Given the description of an element on the screen output the (x, y) to click on. 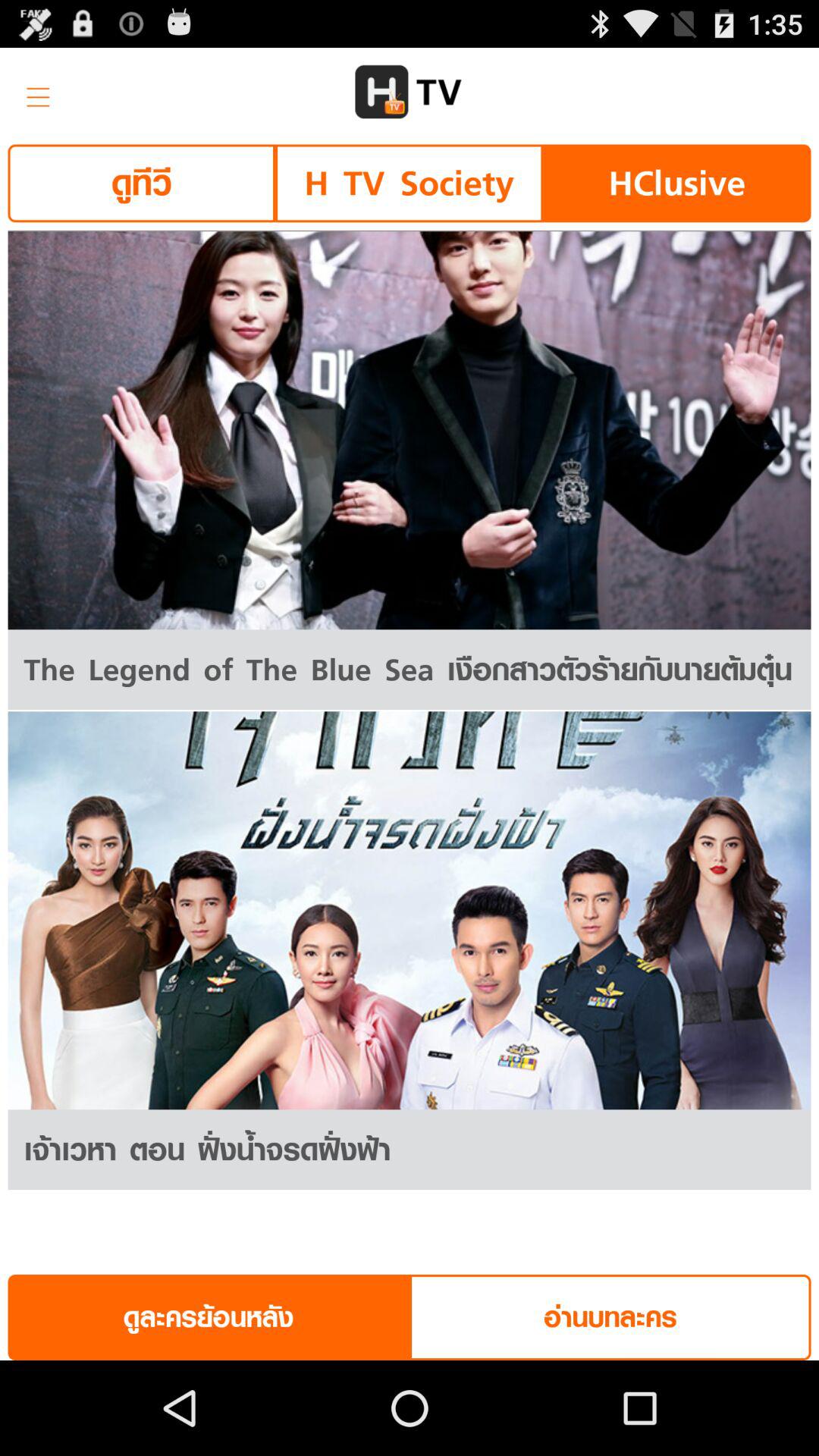
click on the menu icon which is on top left corner (33, 91)
select the first image below the h tv society (409, 429)
select h tv society (408, 183)
